Given the description of an element on the screen output the (x, y) to click on. 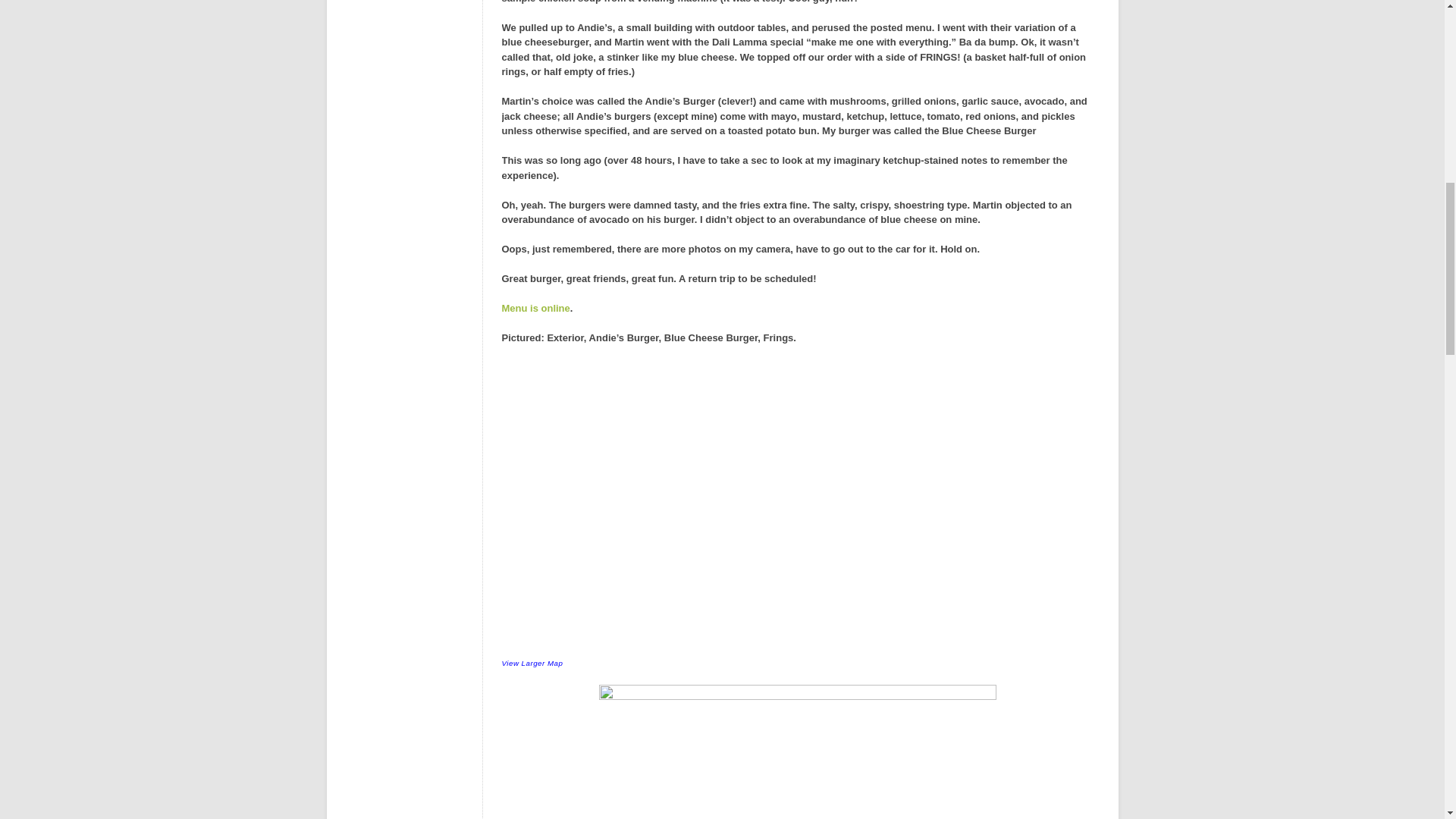
Menu is online (536, 307)
View Larger Map (532, 663)
napaburger6png (796, 751)
